Given the description of an element on the screen output the (x, y) to click on. 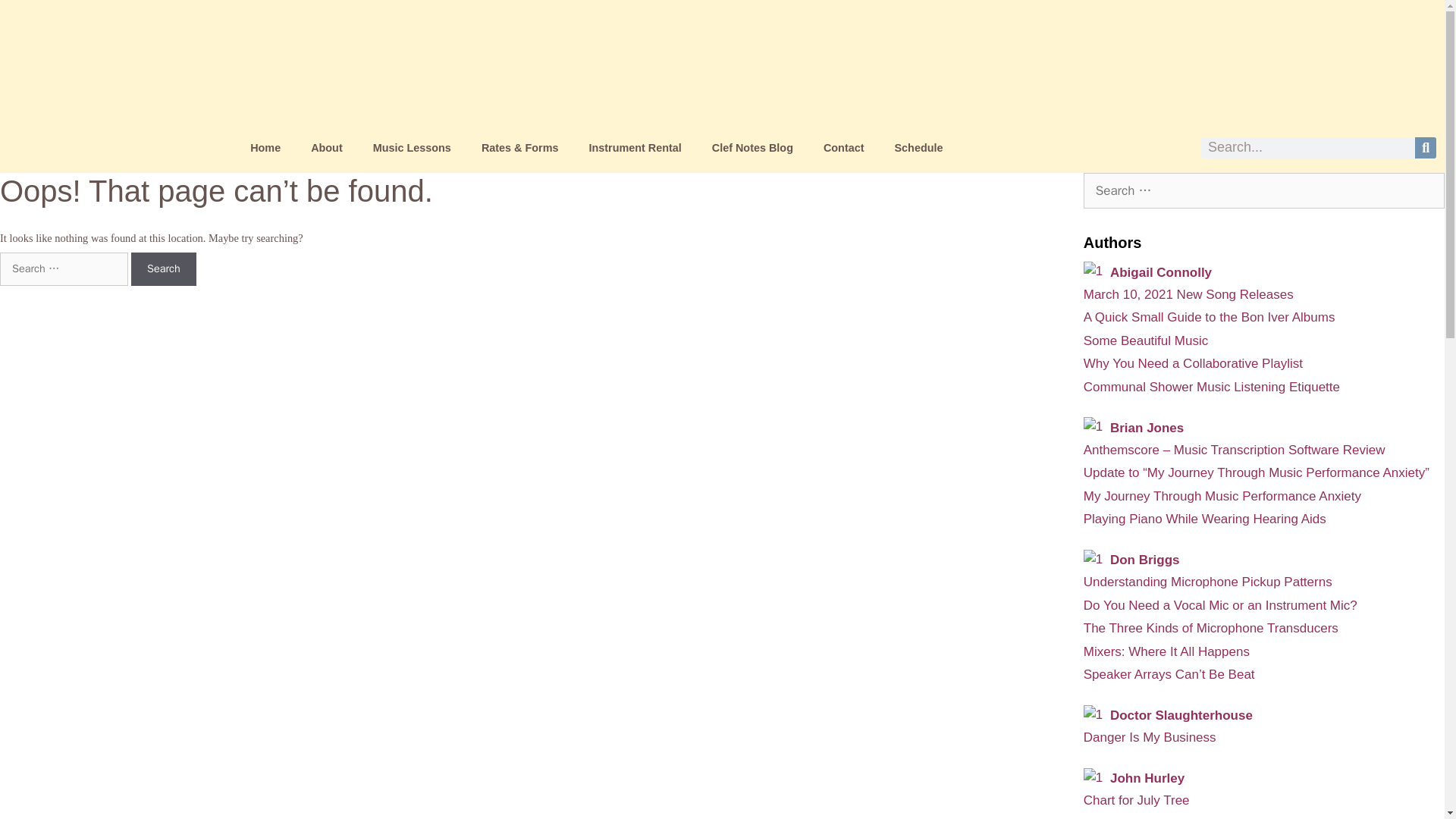
My Journey Through Music Performance Anxiety (1222, 495)
Contact (843, 147)
Search for: (64, 268)
Instrument Rental (634, 147)
Why You Need a Collaborative Playlist (1193, 363)
About (326, 147)
A Quick Small Guide to the Bon Iver Albums (1209, 317)
Playing Piano While Wearing Hearing Aids (1204, 518)
Do You Need a Vocal Mic or an Instrument Mic? (1219, 605)
Understanding Microphone Pickup Patterns (1207, 581)
Clef Notes Blog (752, 147)
Home (264, 147)
March 10, 2021 New Song Releases (1188, 294)
Some Beautiful Music (1145, 340)
Music Lessons (411, 147)
